Given the description of an element on the screen output the (x, y) to click on. 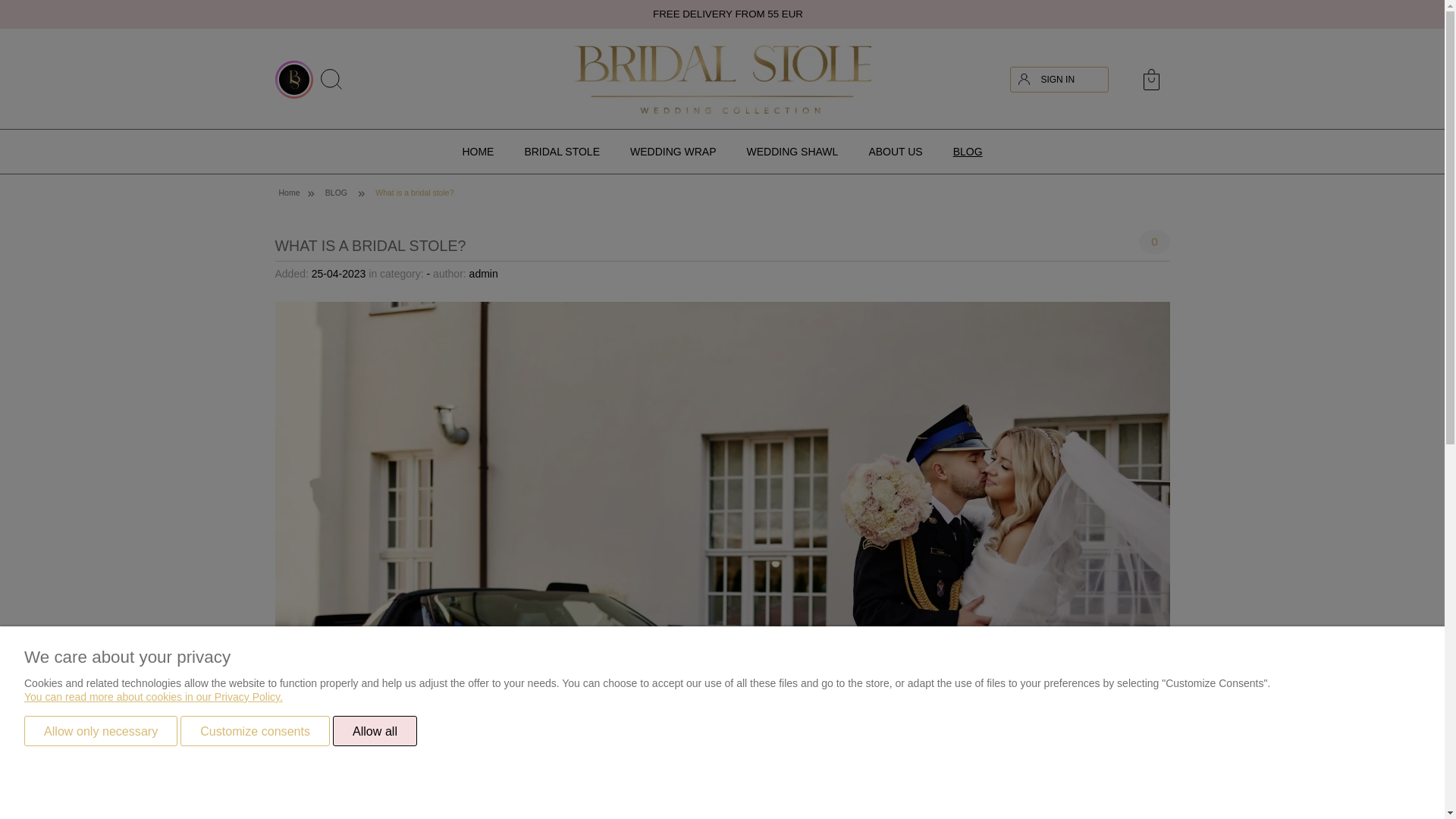
BLOG (967, 151)
ABOUT US (895, 151)
WEDDING SHAWL (792, 151)
BRIDAL STOLE (561, 151)
ABOUT US (895, 151)
Home (721, 79)
SIGN IN (1068, 79)
WEDDING WRAP (673, 151)
BRIDAL STOLE (561, 151)
HOME (477, 151)
